Given the description of an element on the screen output the (x, y) to click on. 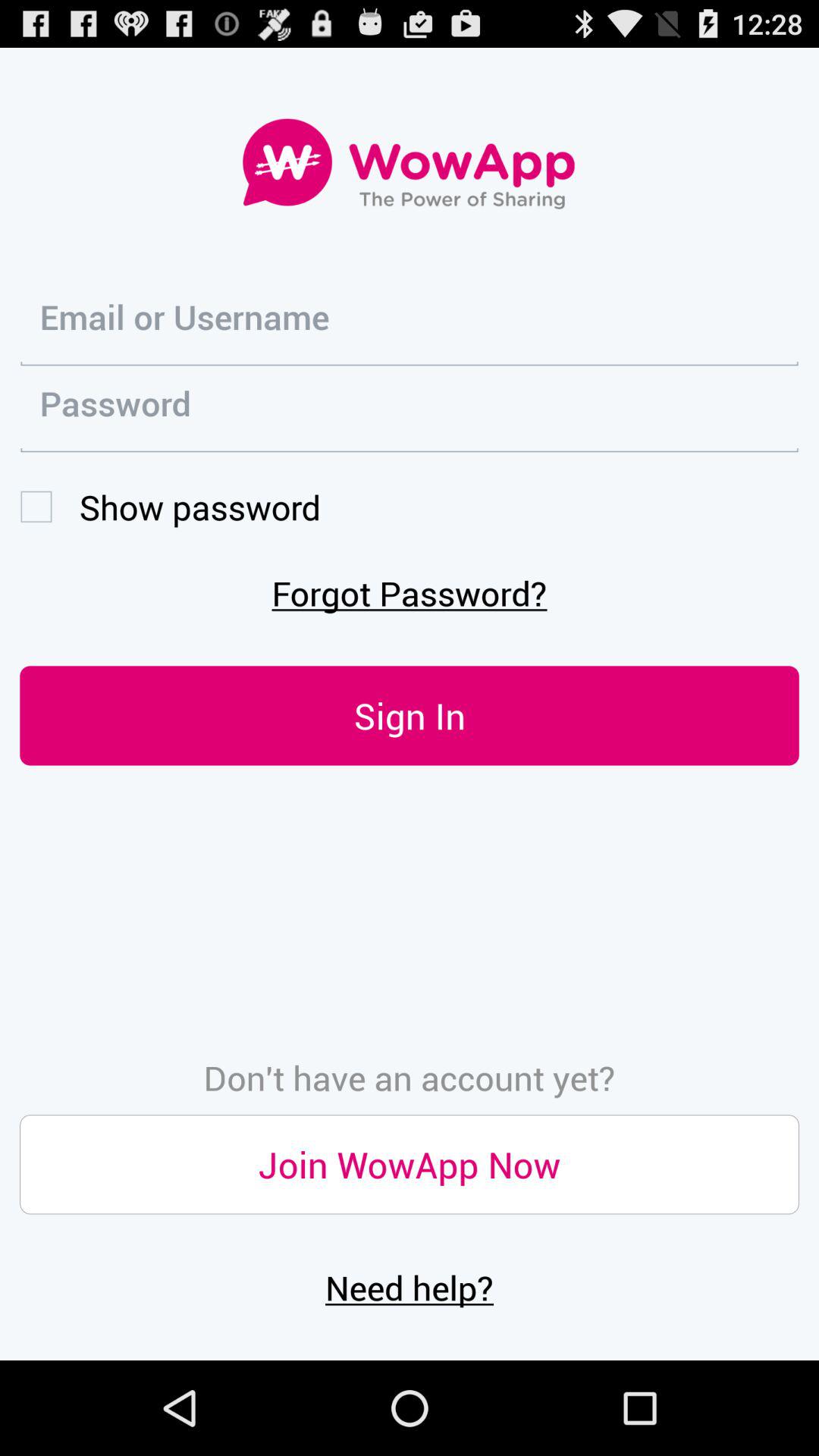
scroll until need help? (409, 1287)
